Given the description of an element on the screen output the (x, y) to click on. 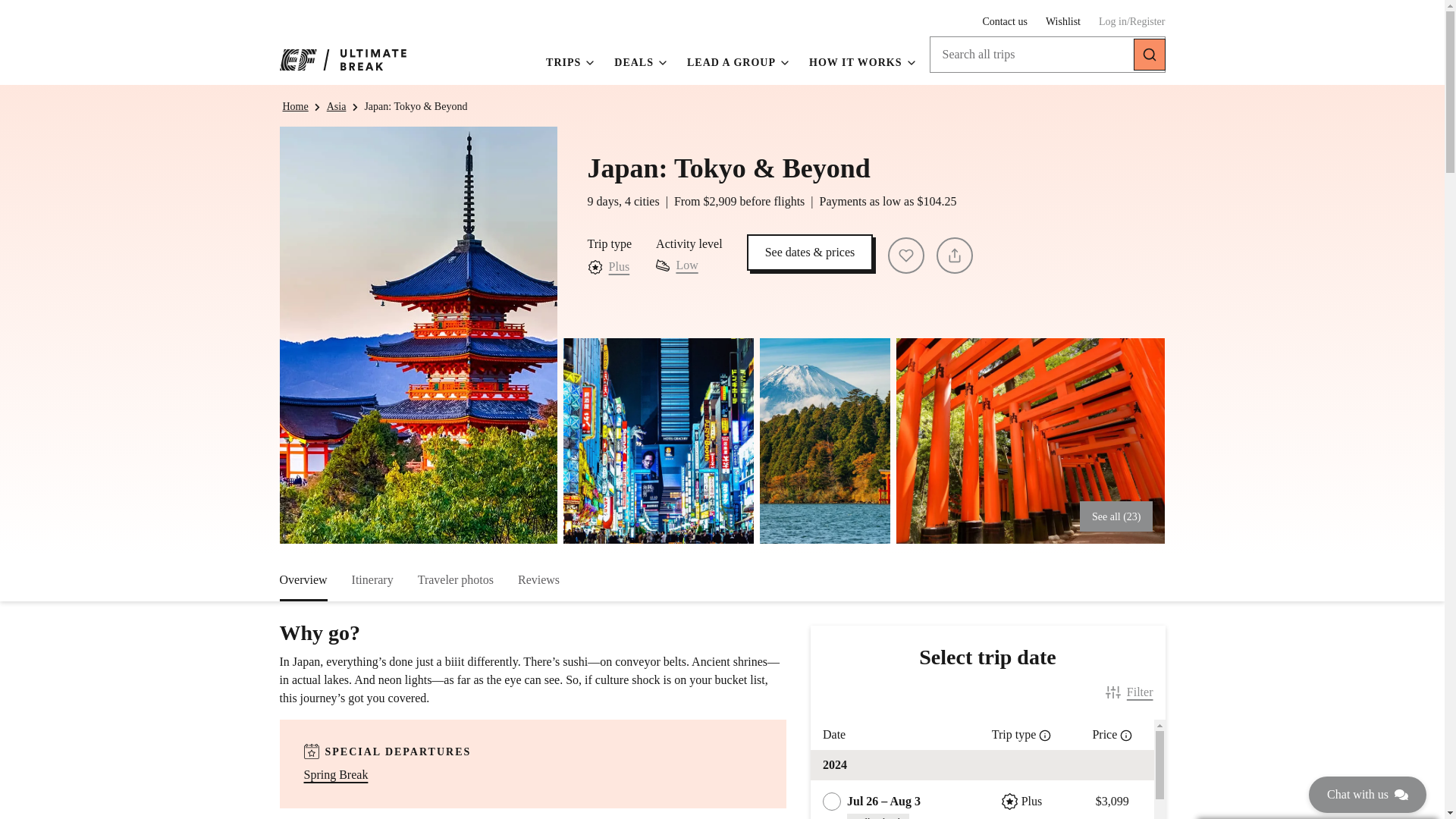
Contact us (1004, 21)
TRIPS (570, 64)
add tour to your wishlist (906, 255)
Low (676, 265)
HOW IT WORKS (863, 64)
Share this tour with a friend (954, 255)
Asia (336, 106)
Traveler photos (455, 587)
Overview (302, 587)
Reviews (538, 587)
JPSB (877, 159)
Wishlist (1062, 21)
Spring Break (335, 774)
Plus (619, 266)
DEALS (641, 64)
